Given the description of an element on the screen output the (x, y) to click on. 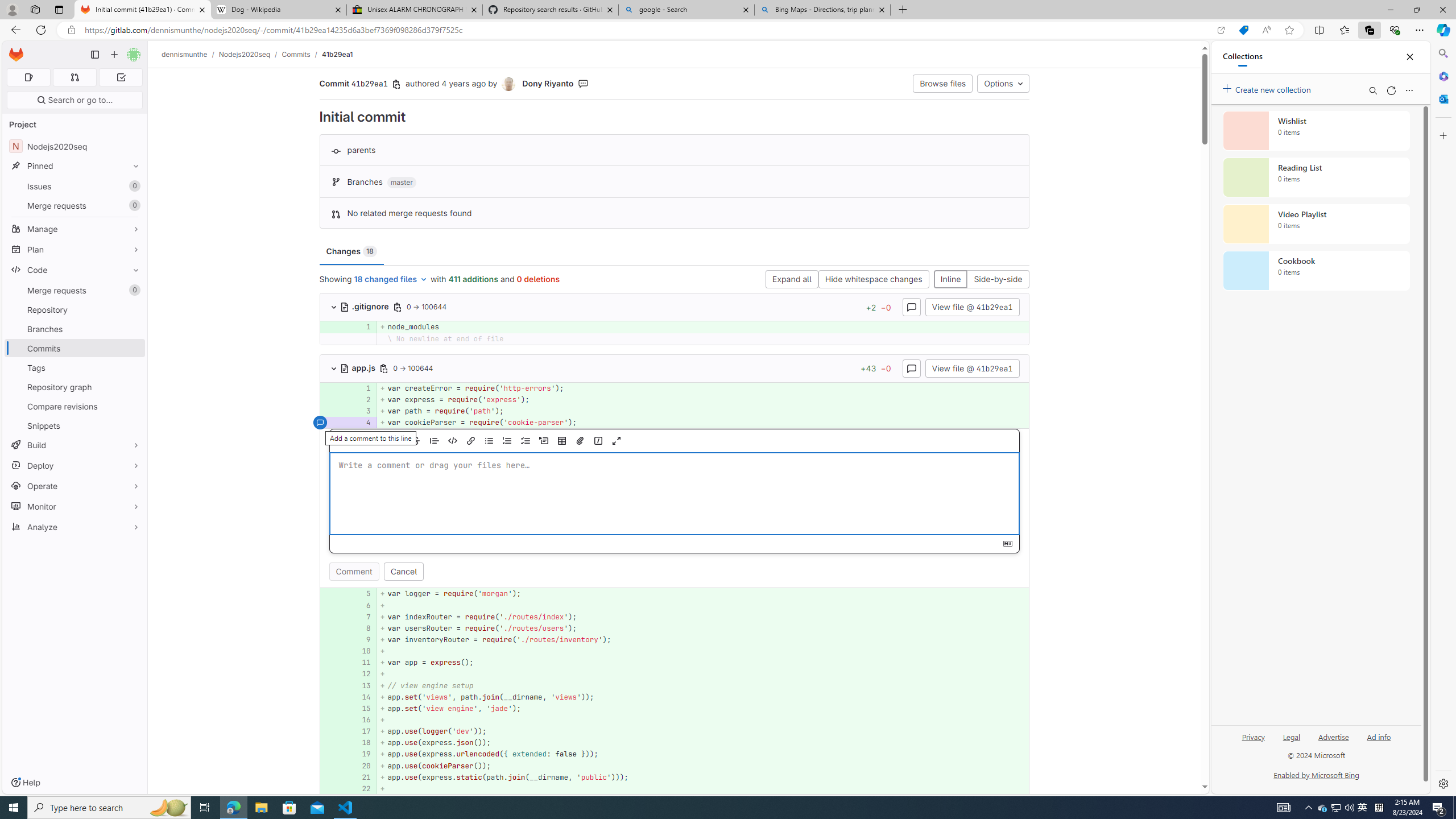
+ var path = require('path');  (703, 410)
+ var indexRouter = require('./routes/index');  (703, 616)
18 (360, 743)
Repository (74, 309)
+ app.set('view engine', 'jade');  (703, 708)
20 (362, 765)
+ var createError = require('http-errors');  (703, 387)
Pin Branches (132, 328)
AutomationID: 4a68969ef8e858229267b842dedf42ab5dde4d50_0_7 (674, 616)
Analyze (74, 526)
+ var logger = require('morgan');  (703, 594)
app.js  (358, 367)
3 (360, 410)
